Given the description of an element on the screen output the (x, y) to click on. 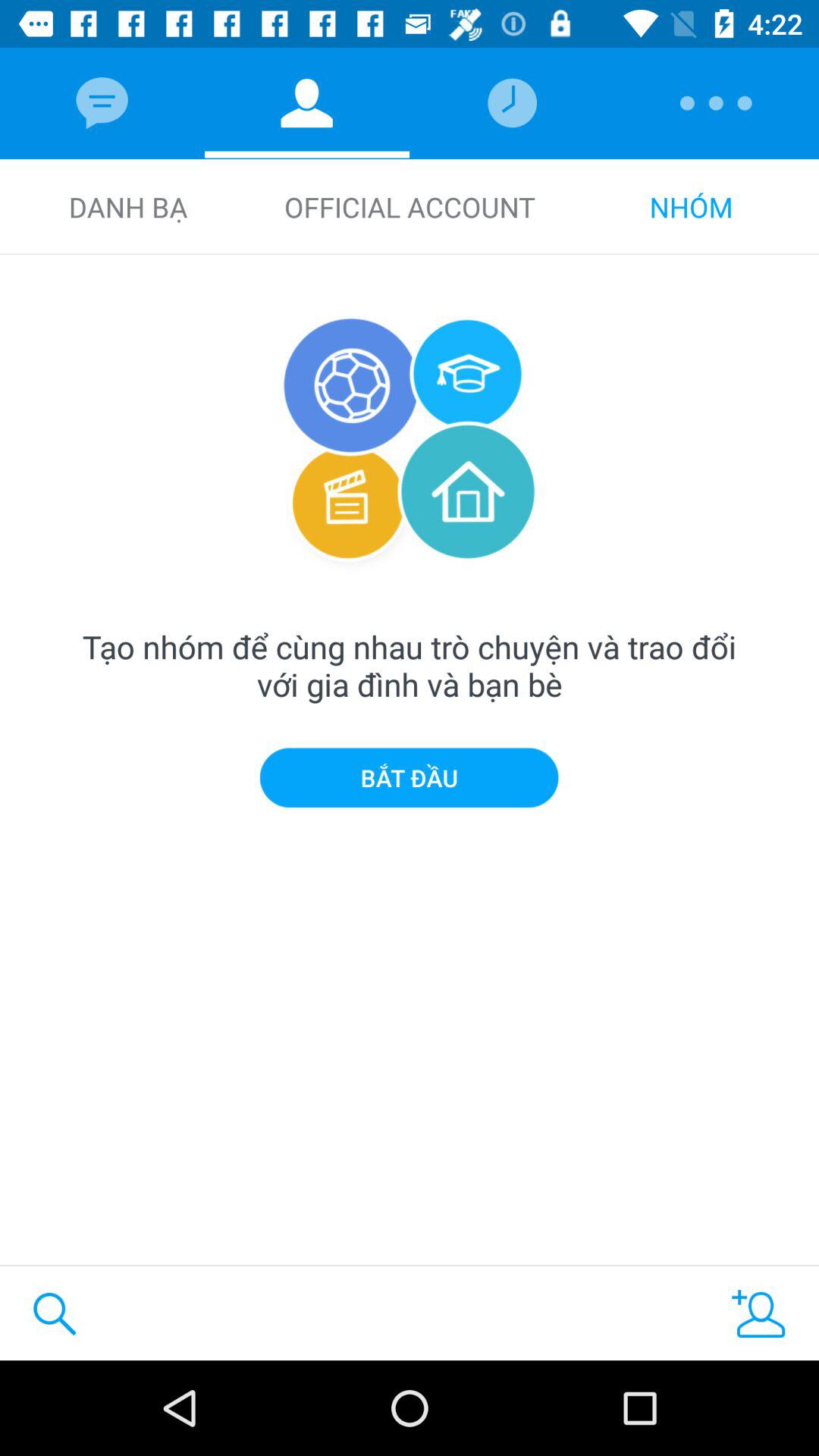
press item next to the official account icon (127, 206)
